Given the description of an element on the screen output the (x, y) to click on. 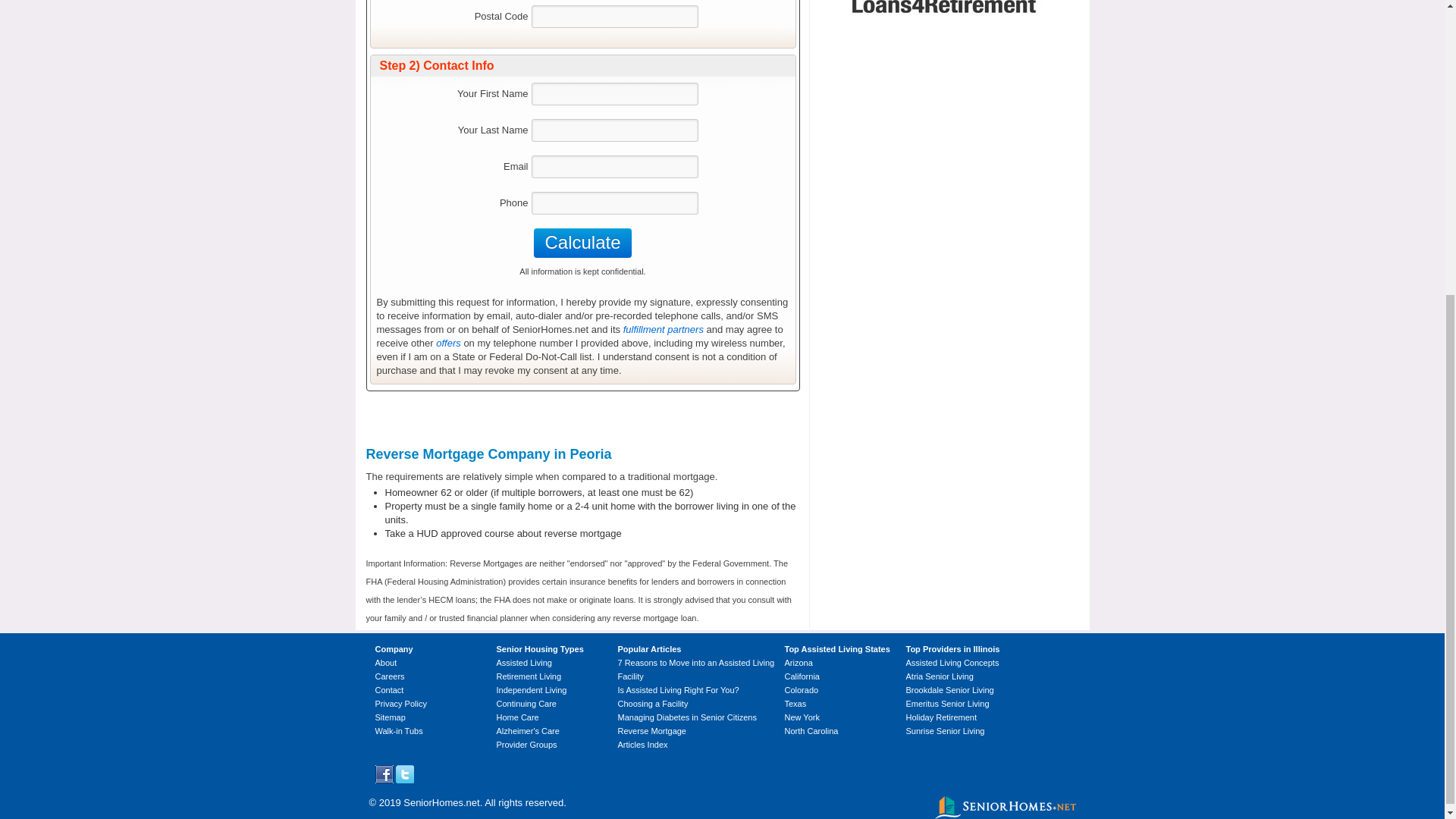
Independent Living (531, 689)
Calculate (582, 242)
Retirement Living (528, 675)
North Carolina (811, 730)
Provider Groups (526, 744)
California (801, 675)
Continuing Care (526, 703)
Texas (795, 703)
Contact (388, 689)
Calculate (582, 242)
Home Care (517, 716)
Sitemap (389, 716)
Reverse Mortgage (651, 730)
Assisted Living (523, 662)
Arizona (798, 662)
